Given the description of an element on the screen output the (x, y) to click on. 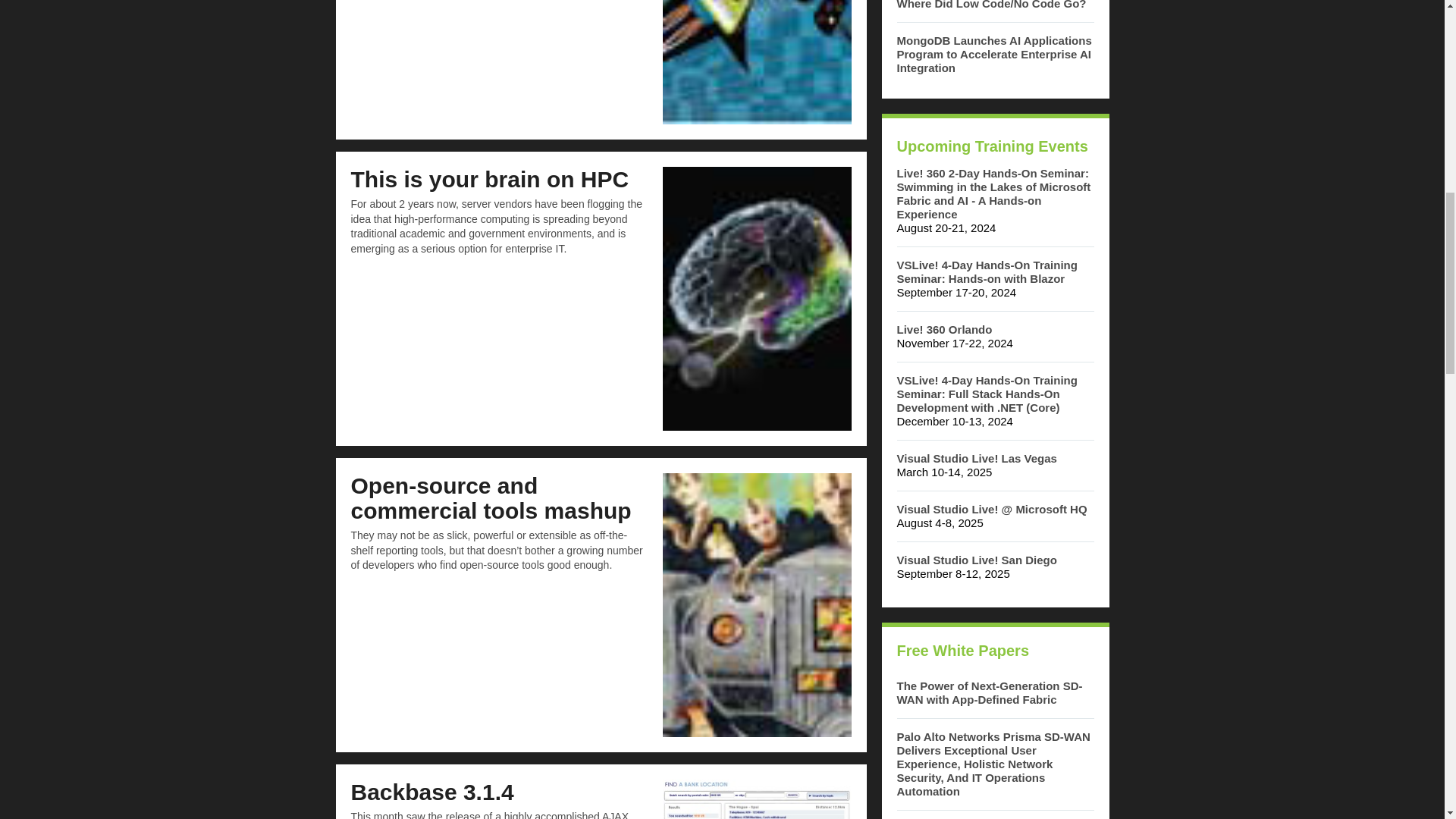
Open-source and commercial tools mashup (490, 498)
Backbase 3.1.4 (431, 791)
This is your brain on HPC (489, 179)
